Given the description of an element on the screen output the (x, y) to click on. 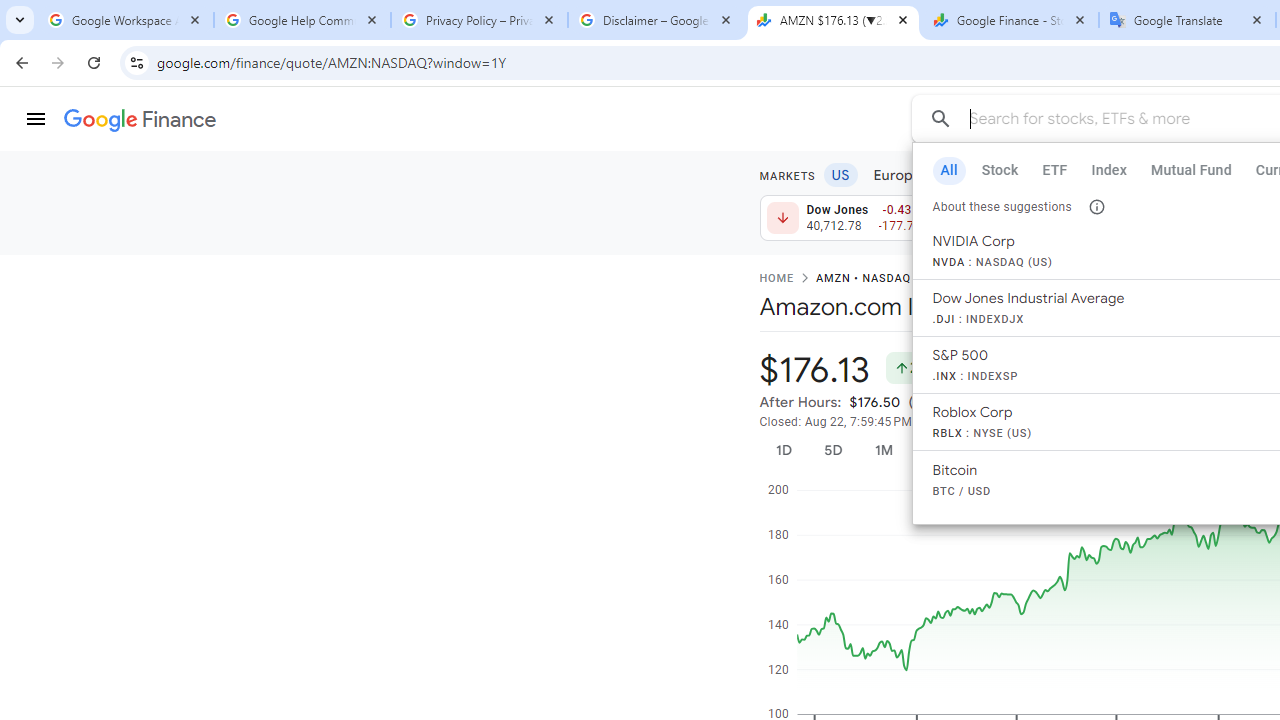
1Y (1044, 449)
Finance (140, 120)
Index (1108, 170)
Currencies (1034, 174)
Disclaimer (1082, 421)
Stock (999, 170)
Mutual Fund (1190, 170)
US (840, 174)
Asia (958, 174)
MAX (1149, 449)
